Given the description of an element on the screen output the (x, y) to click on. 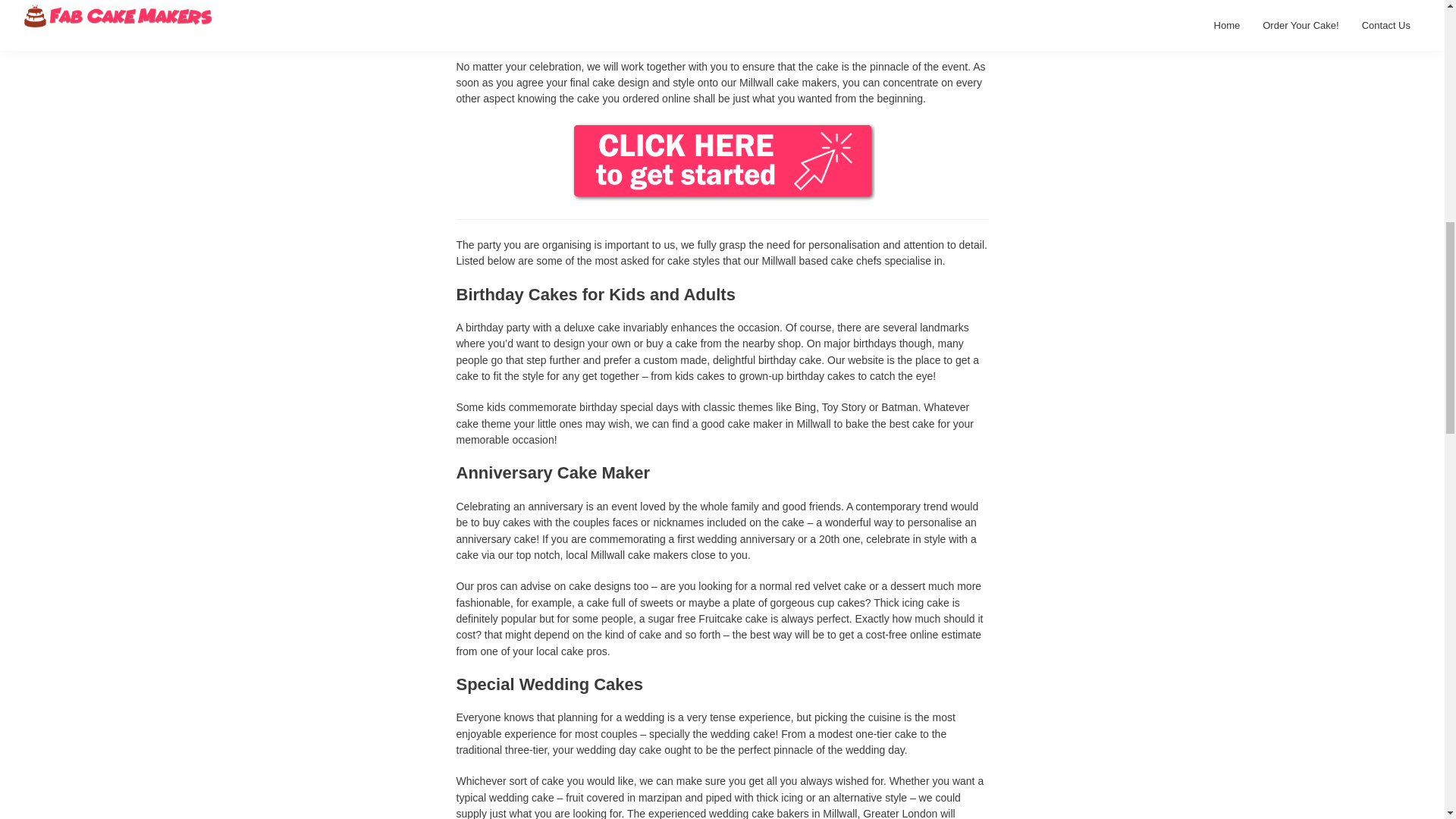
Click Here to Get Started! (722, 130)
